Given the description of an element on the screen output the (x, y) to click on. 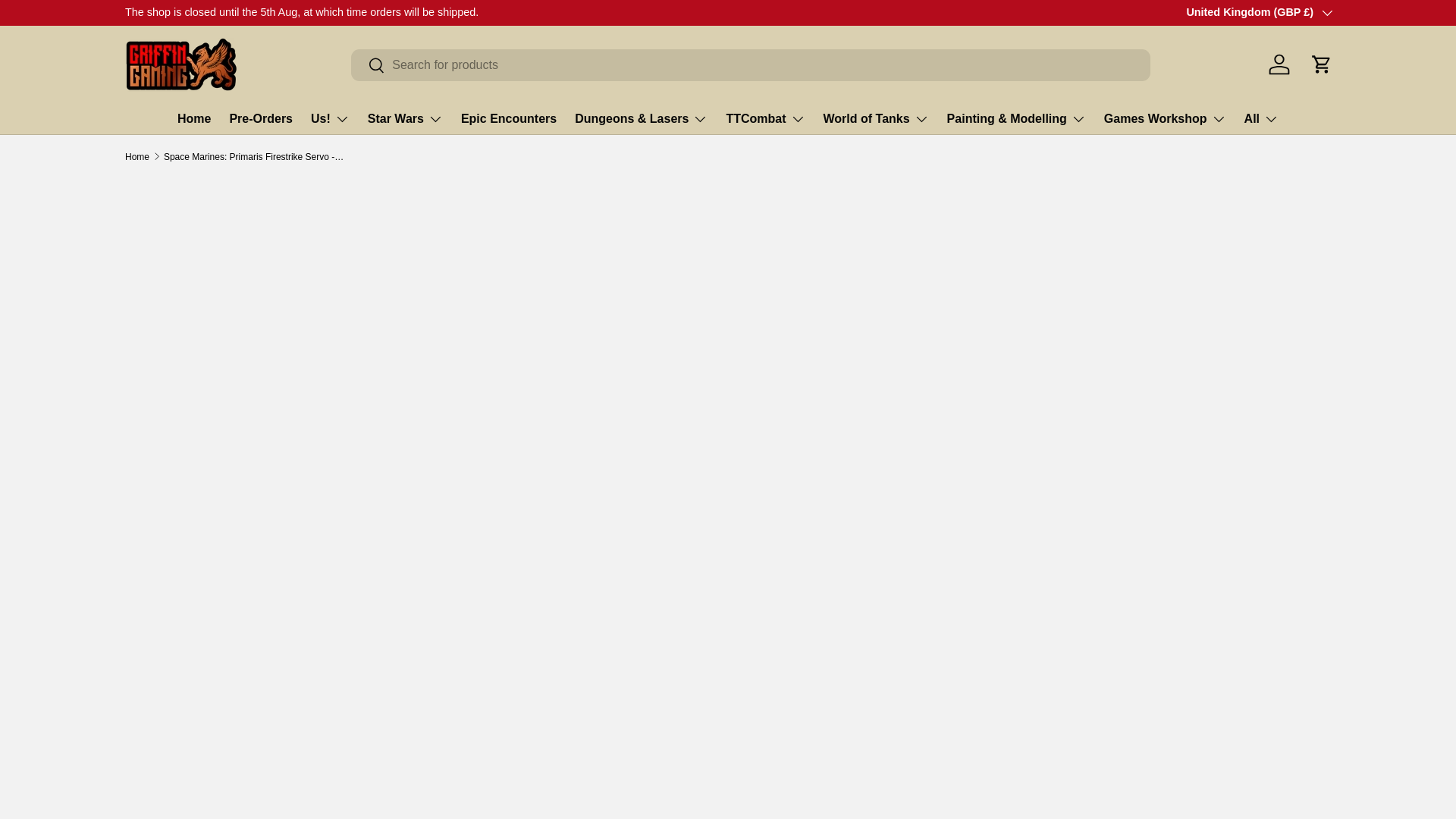
Cart (1321, 64)
Log in (1278, 64)
Epic Encounters (508, 118)
TTCombat (765, 119)
Home (194, 118)
Us! (330, 119)
Star Wars (405, 119)
Search (367, 66)
Skip to content (68, 21)
Pre-Orders (260, 118)
